Given the description of an element on the screen output the (x, y) to click on. 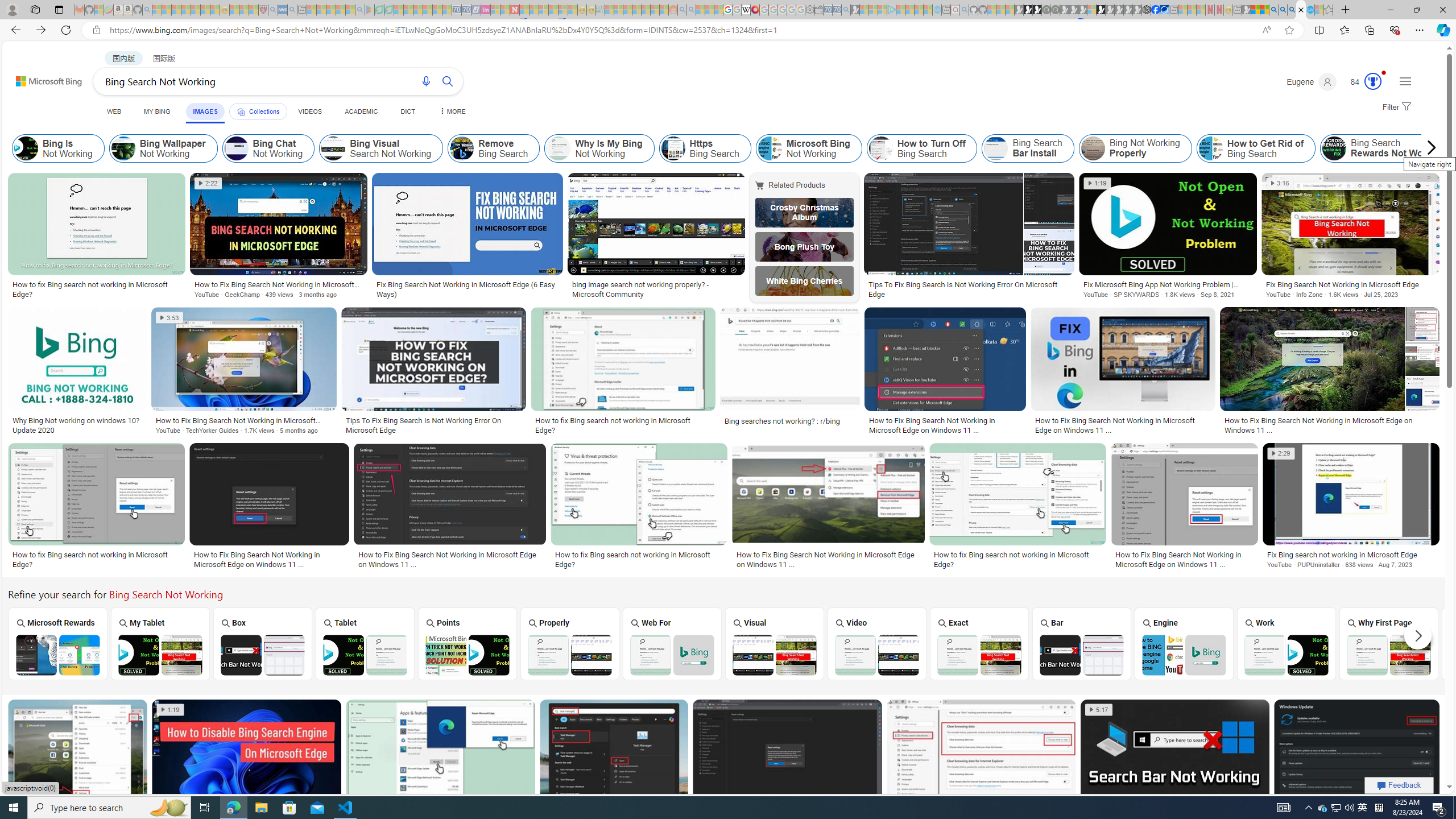
Scroll right (1428, 148)
Microsoft Bing Not Working (769, 148)
Bong Plush Toy (804, 246)
Image result for Bing Search Not Working (1356, 751)
VIDEOS (310, 111)
MY BING (156, 111)
Visual (774, 643)
Cheap Car Rentals - Save70.com - Sleeping (836, 9)
